Given the description of an element on the screen output the (x, y) to click on. 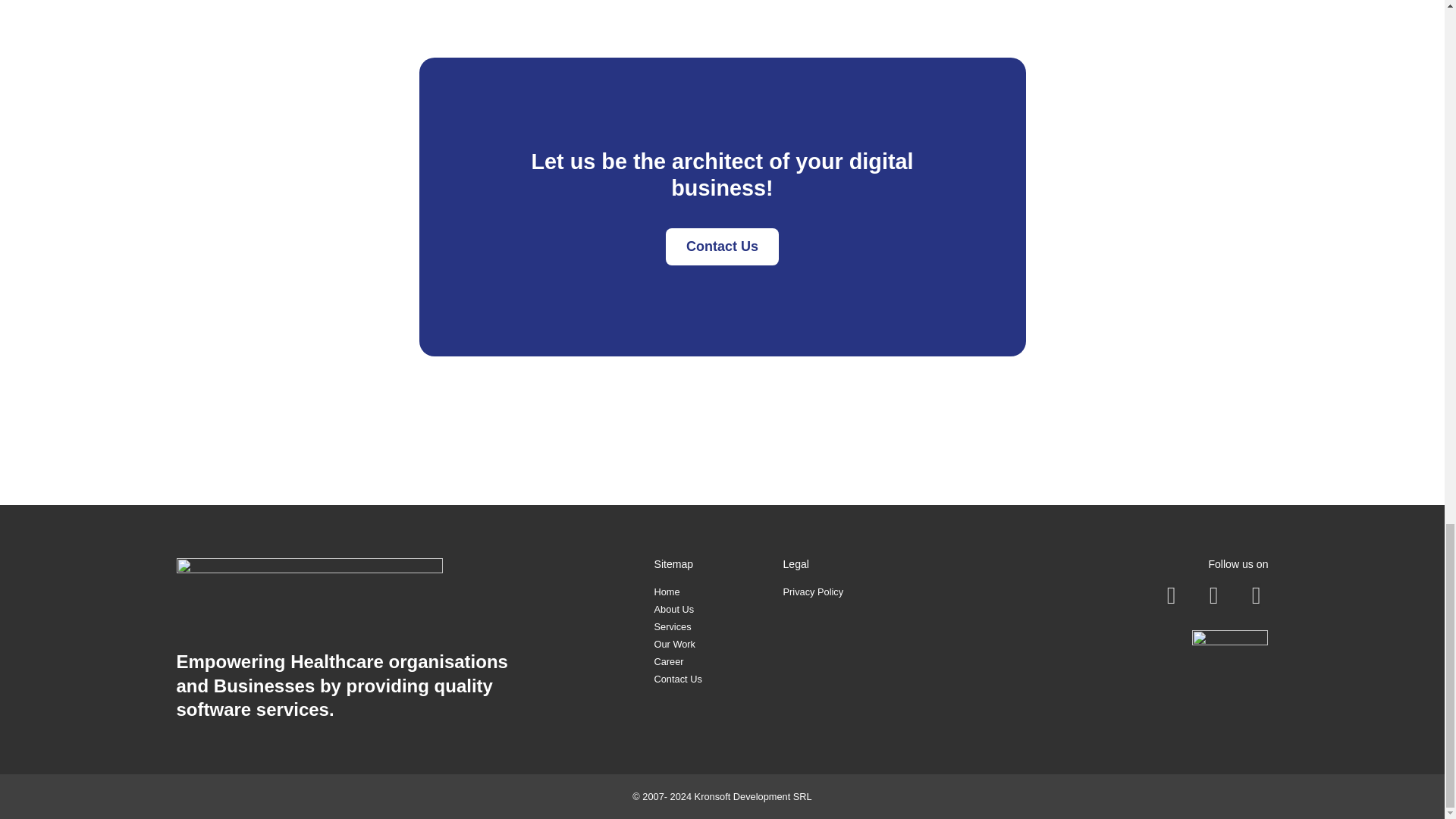
About Us (673, 609)
Career (667, 661)
Home (666, 591)
Career (667, 661)
Services (671, 626)
Services (671, 626)
Contact Us (721, 246)
About Us (673, 609)
Our Work (674, 644)
Privacy Policy (813, 591)
